Given the description of an element on the screen output the (x, y) to click on. 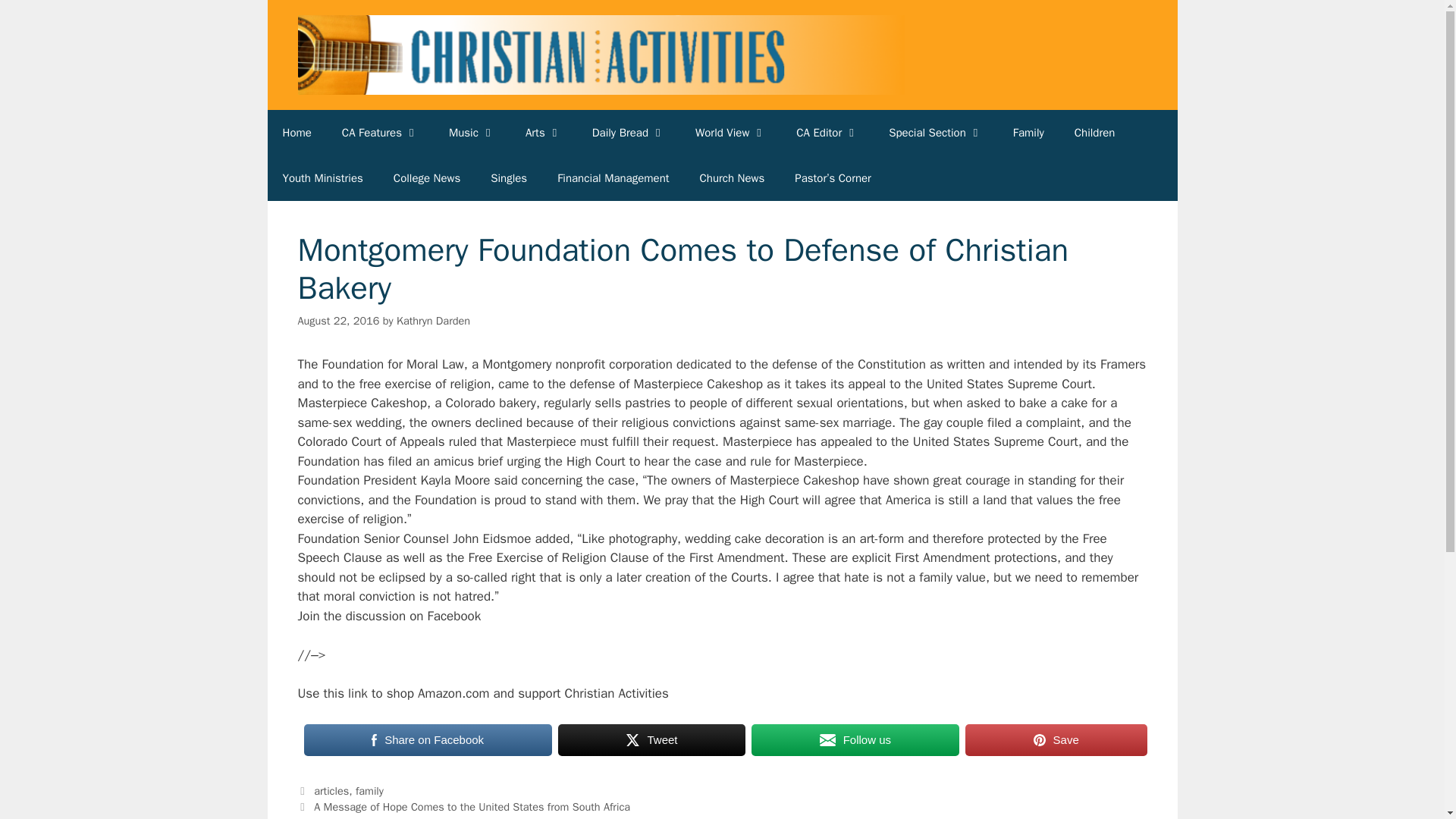
View all posts by Kathryn Darden (433, 320)
Children (1095, 132)
Home (296, 132)
World View (729, 132)
Family (1028, 132)
Youth Ministries (321, 177)
Special Section (935, 132)
Singles (508, 177)
CA Features (379, 132)
Music (472, 132)
